Given the description of an element on the screen output the (x, y) to click on. 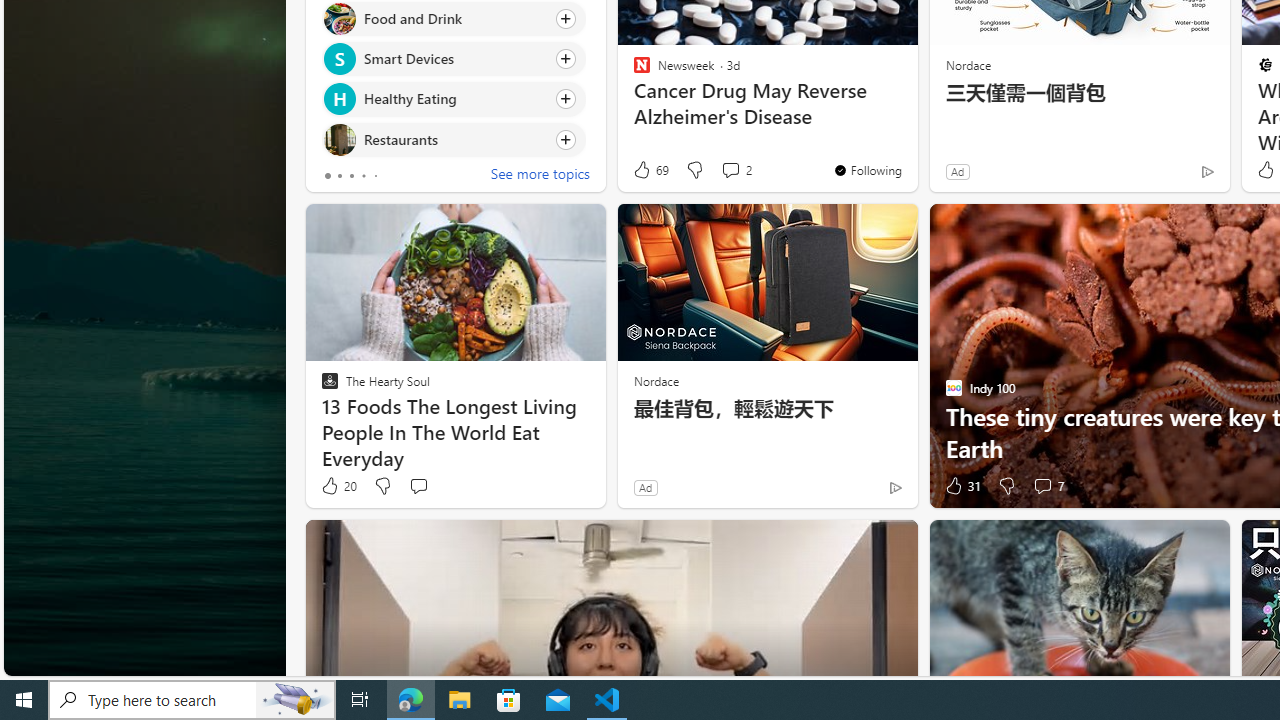
View comments 7 Comment (1042, 485)
tab-3 (363, 175)
31 Like (961, 485)
Click to follow topic Smart Devices (453, 59)
tab-4 (374, 175)
See more topics (540, 175)
Click to follow topic Food and Drink (453, 18)
20 Like (337, 485)
View comments 7 Comment (1048, 485)
